Given the description of an element on the screen output the (x, y) to click on. 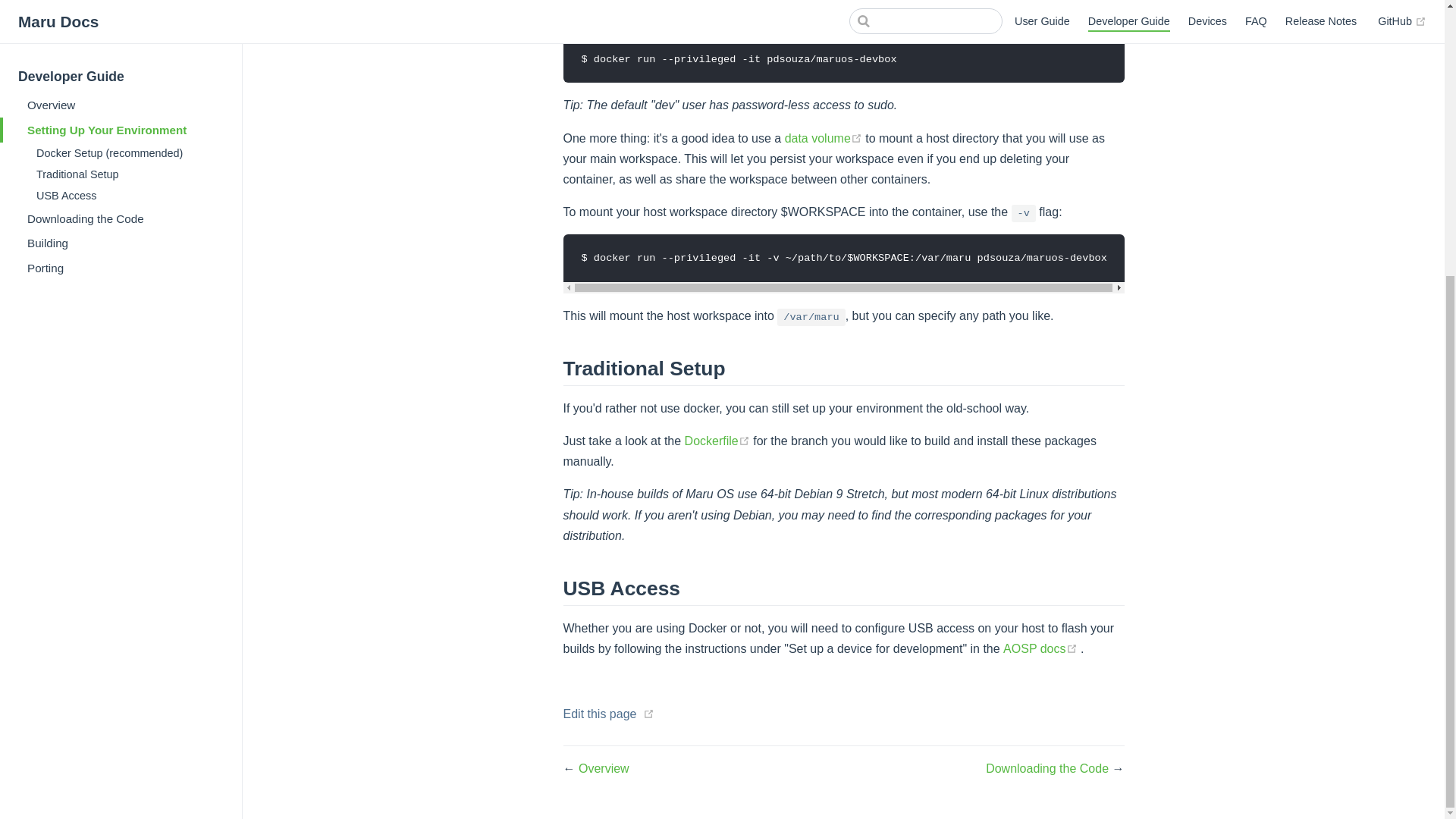
Edit this page (599, 713)
Overview (603, 768)
Downloading the Code (1048, 768)
